Given the description of an element on the screen output the (x, y) to click on. 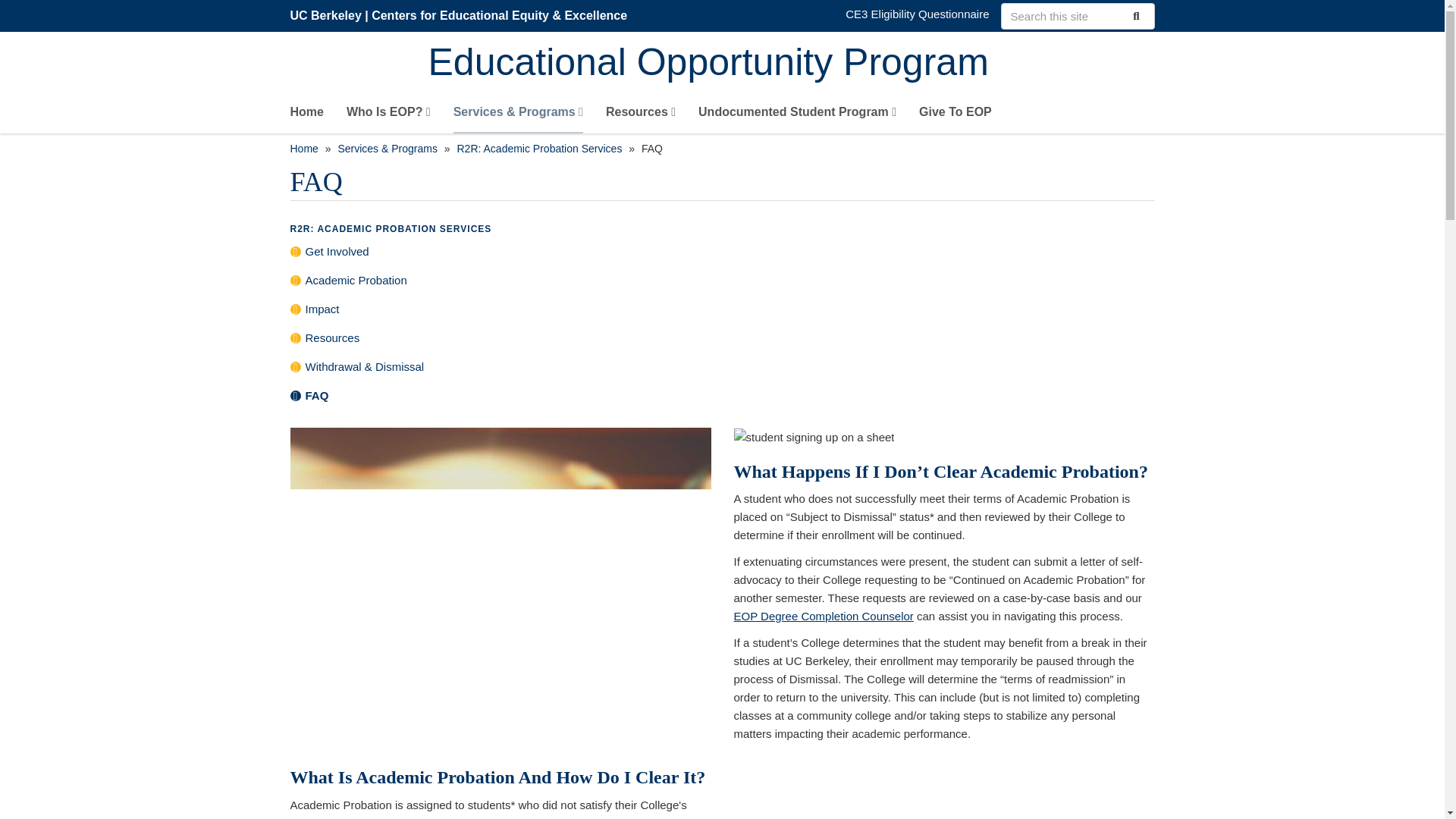
Undocumented Student Program (797, 115)
UC Berkeley (325, 15)
Submit Search (1133, 15)
Resources (640, 115)
Educational Opportunity Program (791, 63)
Home (306, 115)
Give To EOP (954, 115)
Who Is EOP? (388, 115)
Home (791, 63)
